Given the description of an element on the screen output the (x, y) to click on. 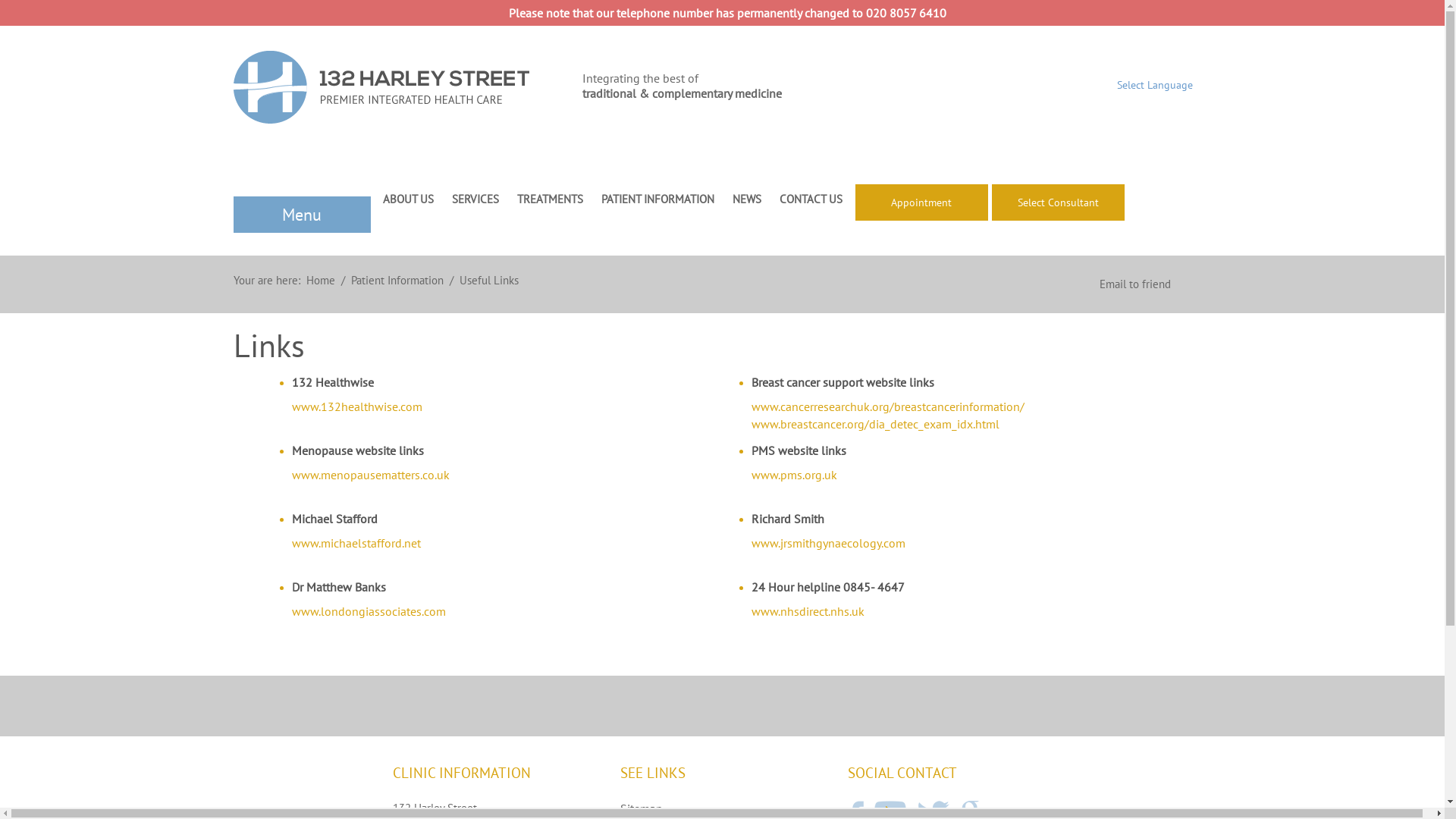
www.cancerresearchuk.org/breastcancerinformation/ Element type: text (887, 406)
PATIENT INFORMATION Element type: text (656, 198)
www.nhsdirect.nhs.uk Element type: text (807, 610)
www.132healthwise.com Element type: text (356, 406)
Sitemap Element type: text (722, 807)
Email to friend Element type: text (1134, 283)
SERVICES Element type: text (475, 198)
www.pms.org.uk Element type: text (794, 474)
TREATMENTS Element type: text (550, 198)
Appointment Element type: text (921, 202)
www.londongiassociates.com Element type: text (368, 610)
Select Consultant Element type: text (1057, 202)
CONTACT US Element type: text (810, 198)
NEWS Element type: text (746, 198)
Menu Element type: text (301, 214)
Home Element type: text (320, 280)
ABOUT US Element type: text (407, 198)
Select Language Element type: text (1154, 84)
www.jrsmithgynaecology.com Element type: text (828, 542)
Useful Links Element type: text (488, 280)
www.breastcancer.org/dia_detec_exam_idx.html Element type: text (875, 423)
Patient Information Element type: text (396, 280)
www.menopausematters.co.uk Element type: text (370, 474)
www.michaelstafford.net Element type: text (355, 542)
